Given the description of an element on the screen output the (x, y) to click on. 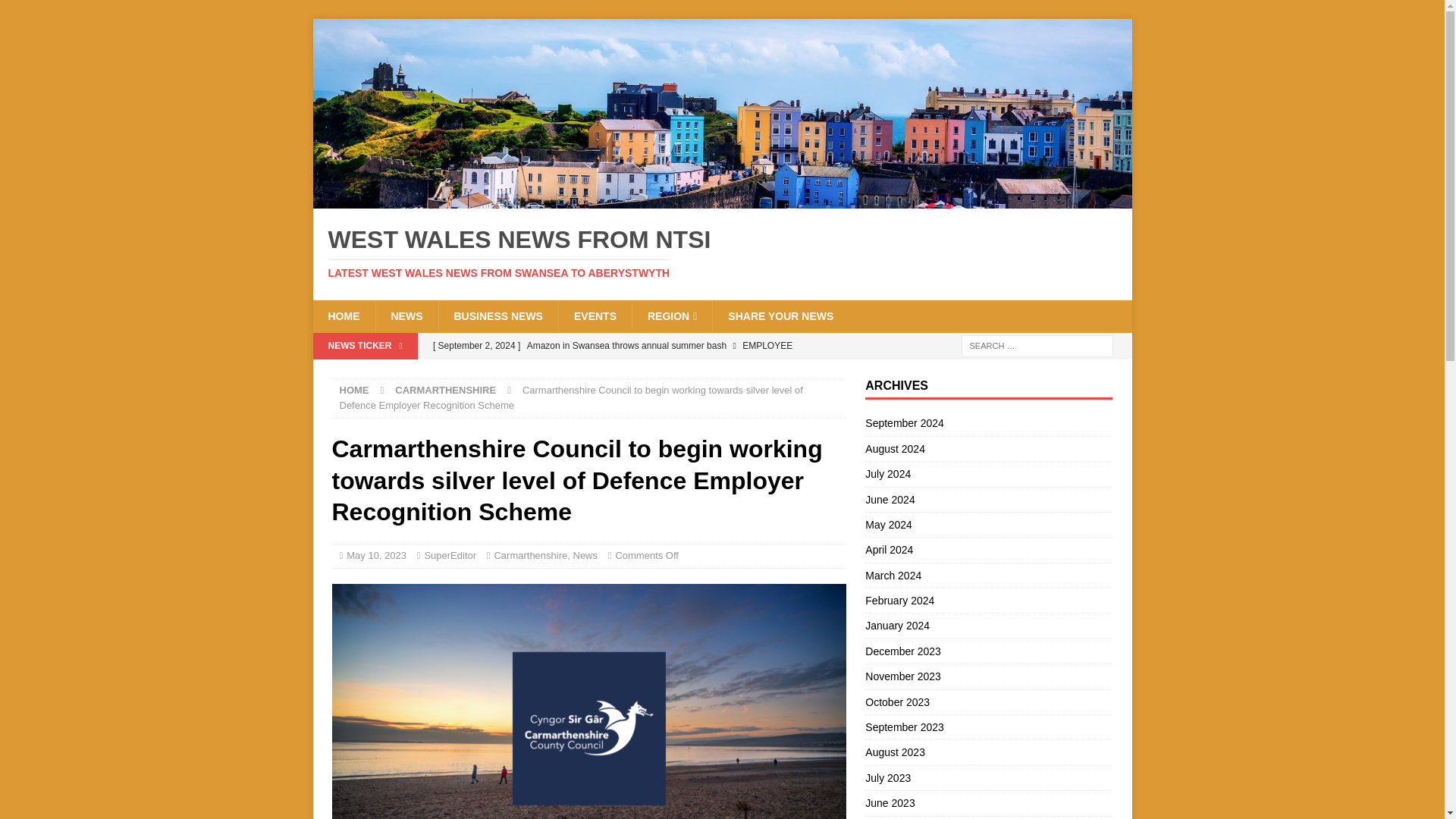
West Wales News from NTSI (722, 199)
Amazon in Swansea throws annual summer bash (634, 358)
West Wales News from NTSI (721, 253)
carmarthenshire council (588, 701)
EVENTS (594, 316)
REGION (671, 316)
HOME (343, 316)
BUSINESS NEWS (497, 316)
NEWS (406, 316)
